Given the description of an element on the screen output the (x, y) to click on. 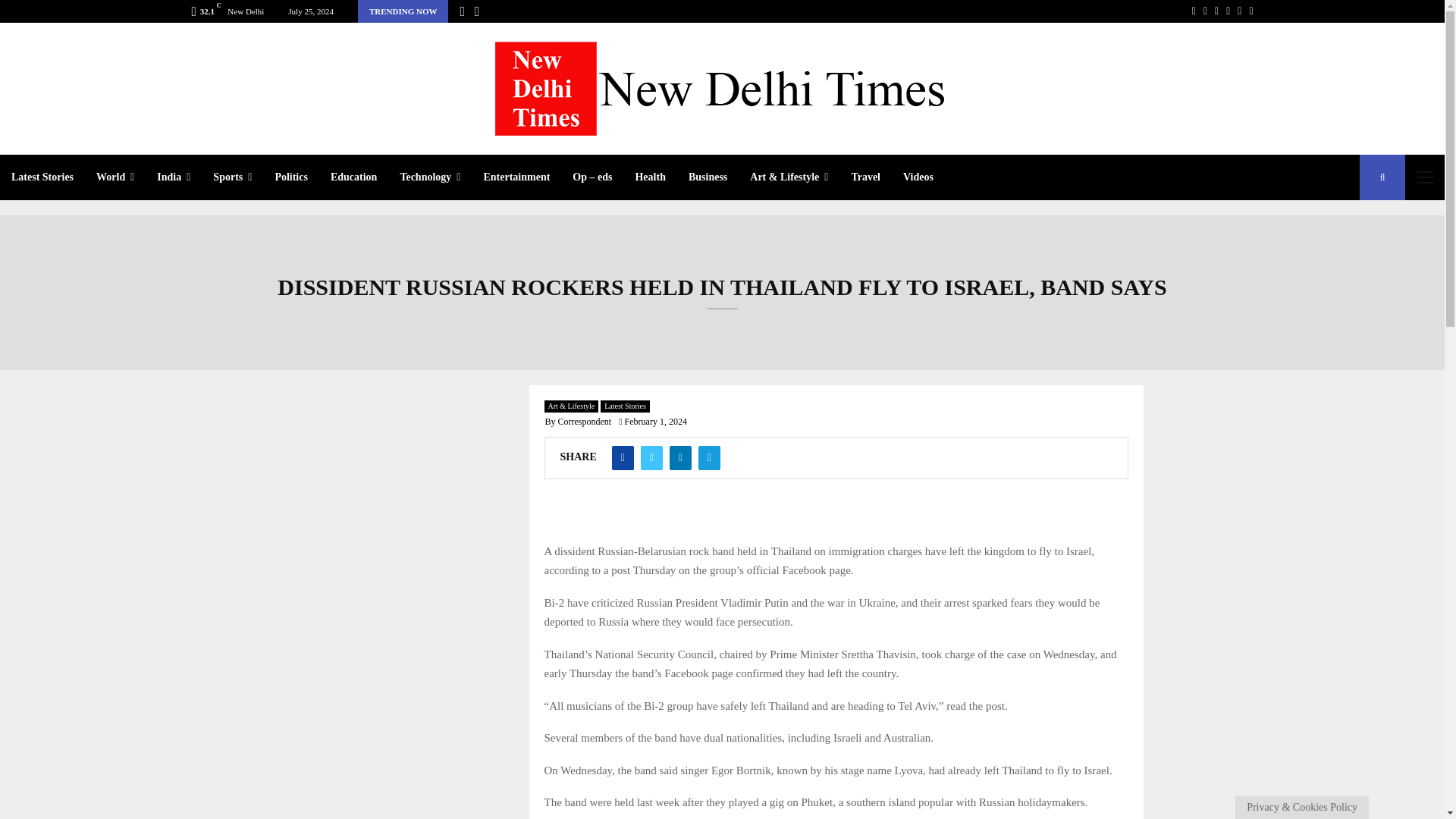
Latest Stories (42, 176)
